Given the description of an element on the screen output the (x, y) to click on. 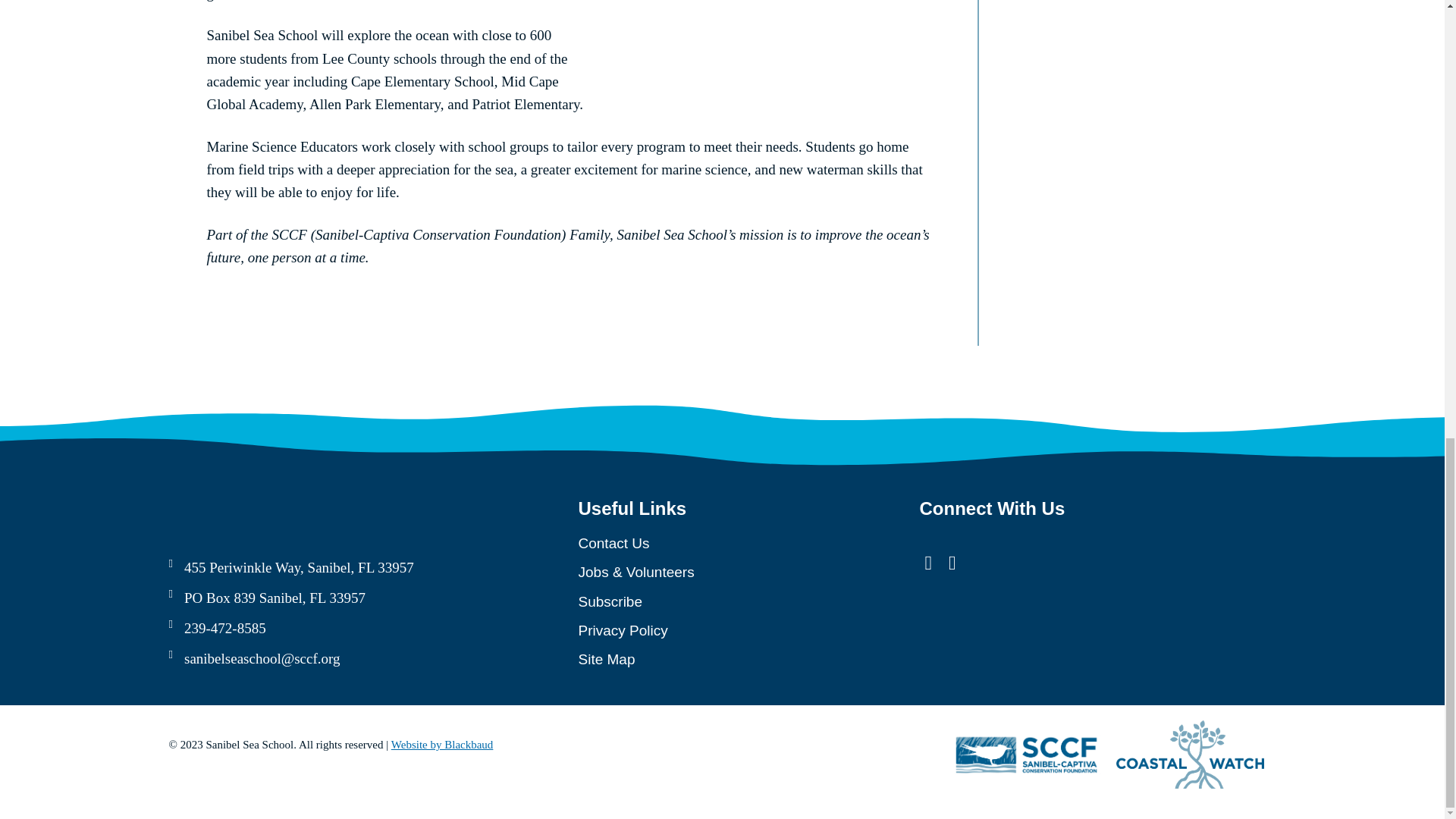
Sanibel Logo White (244, 510)
